Given the description of an element on the screen output the (x, y) to click on. 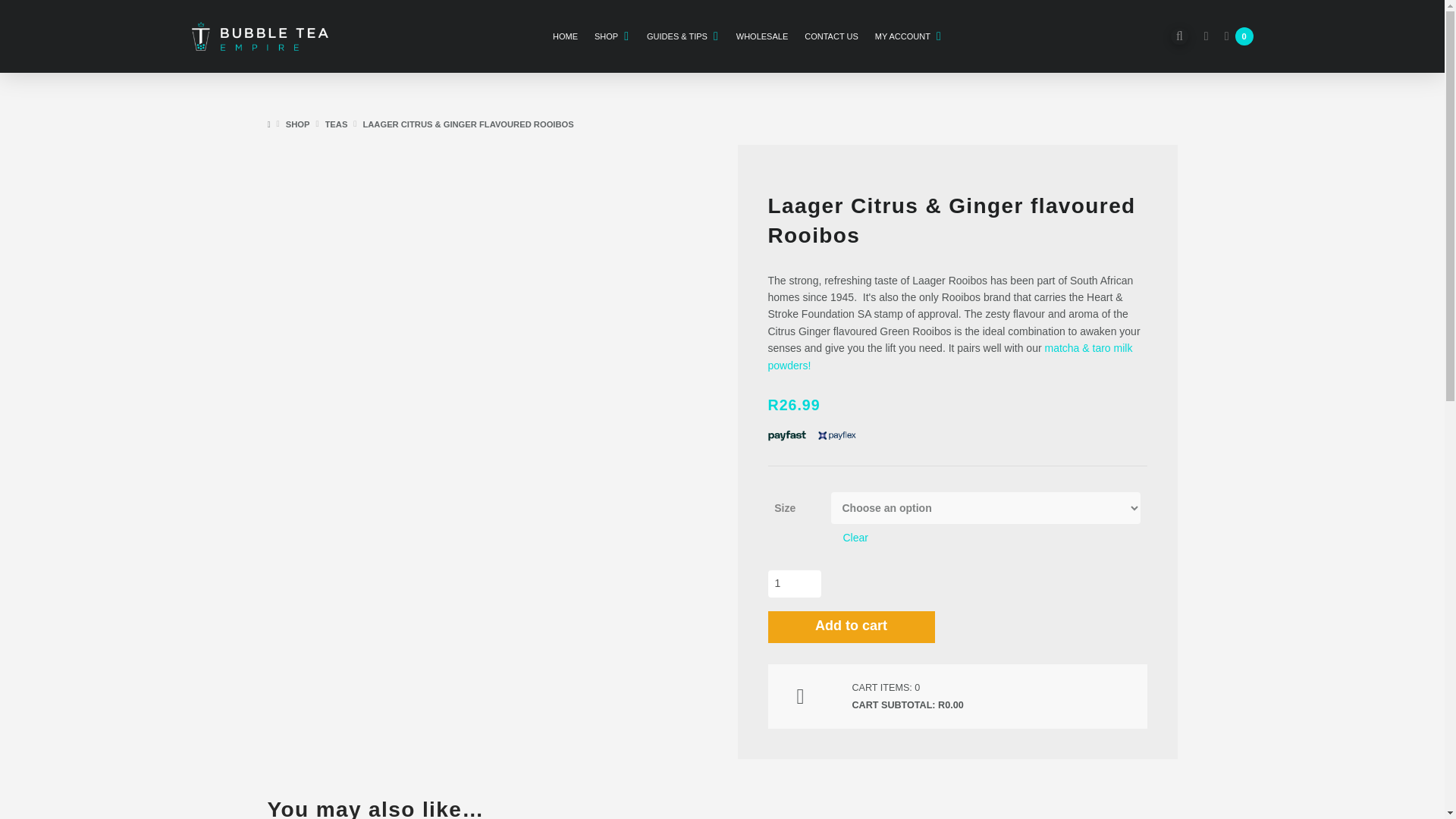
WHOLESALE (762, 36)
1 (794, 583)
Clear (855, 537)
TEAS (335, 124)
SHOP (297, 124)
MY ACCOUNT (908, 36)
You Are Here (467, 124)
Add to cart (850, 626)
CONTACT US (831, 36)
